Given the description of an element on the screen output the (x, y) to click on. 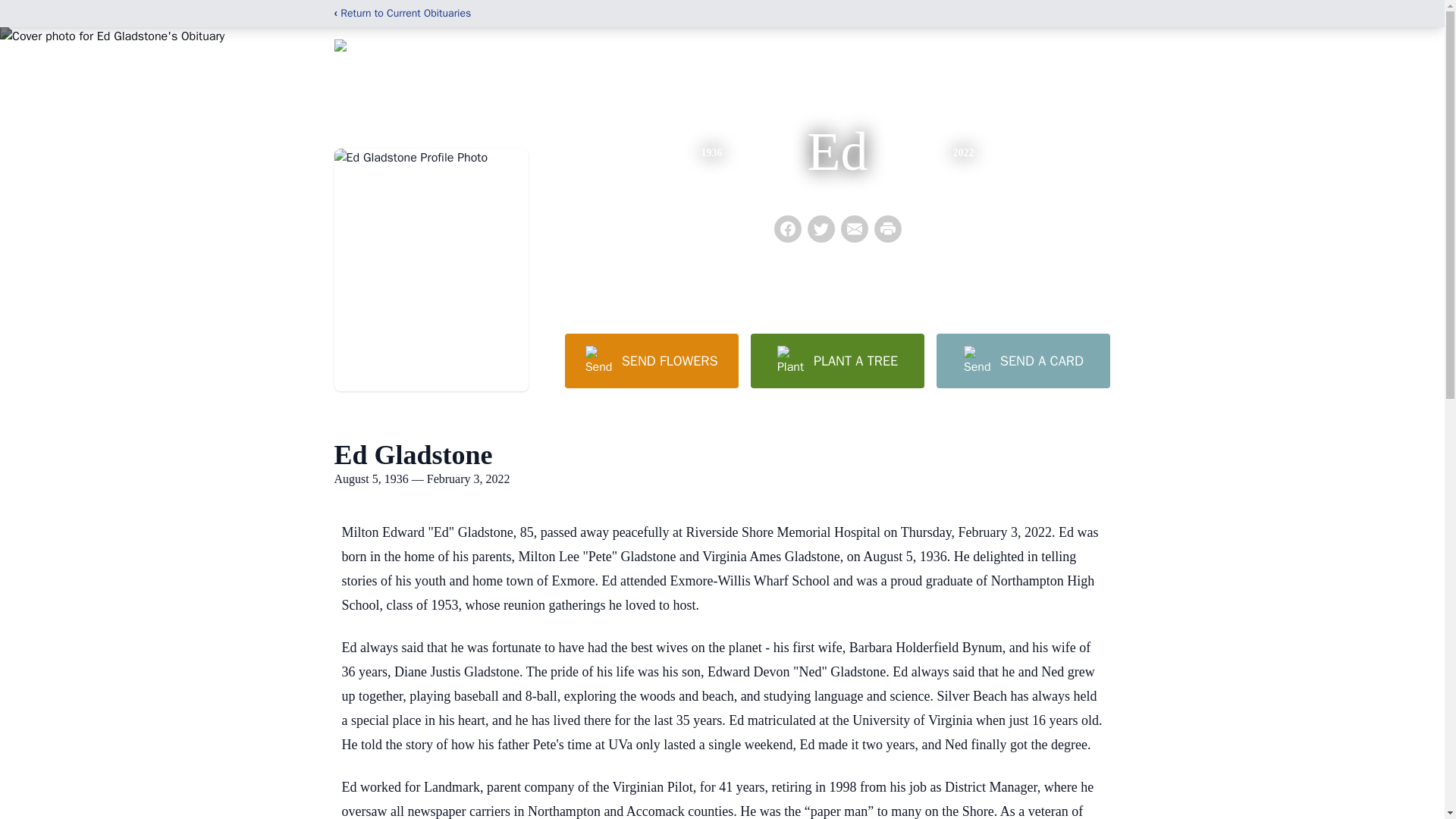
PLANT A TREE (837, 360)
SEND FLOWERS (651, 360)
SEND A CARD (1022, 360)
